Given the description of an element on the screen output the (x, y) to click on. 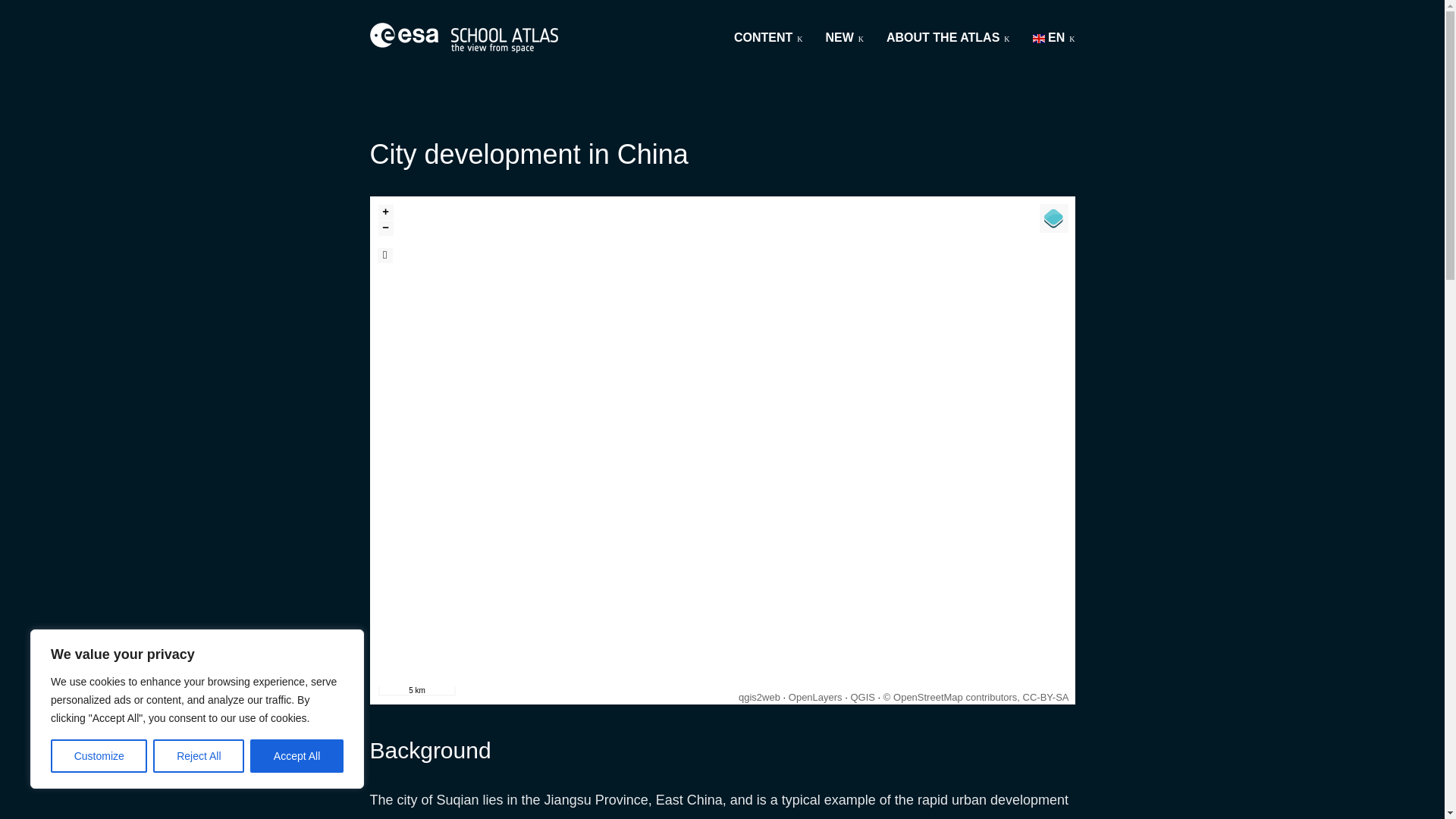
Reject All (198, 756)
ESA Schoolatlas (463, 37)
English (1053, 38)
CONTENT (768, 38)
Accept All (296, 756)
Customize (98, 756)
